Given the description of an element on the screen output the (x, y) to click on. 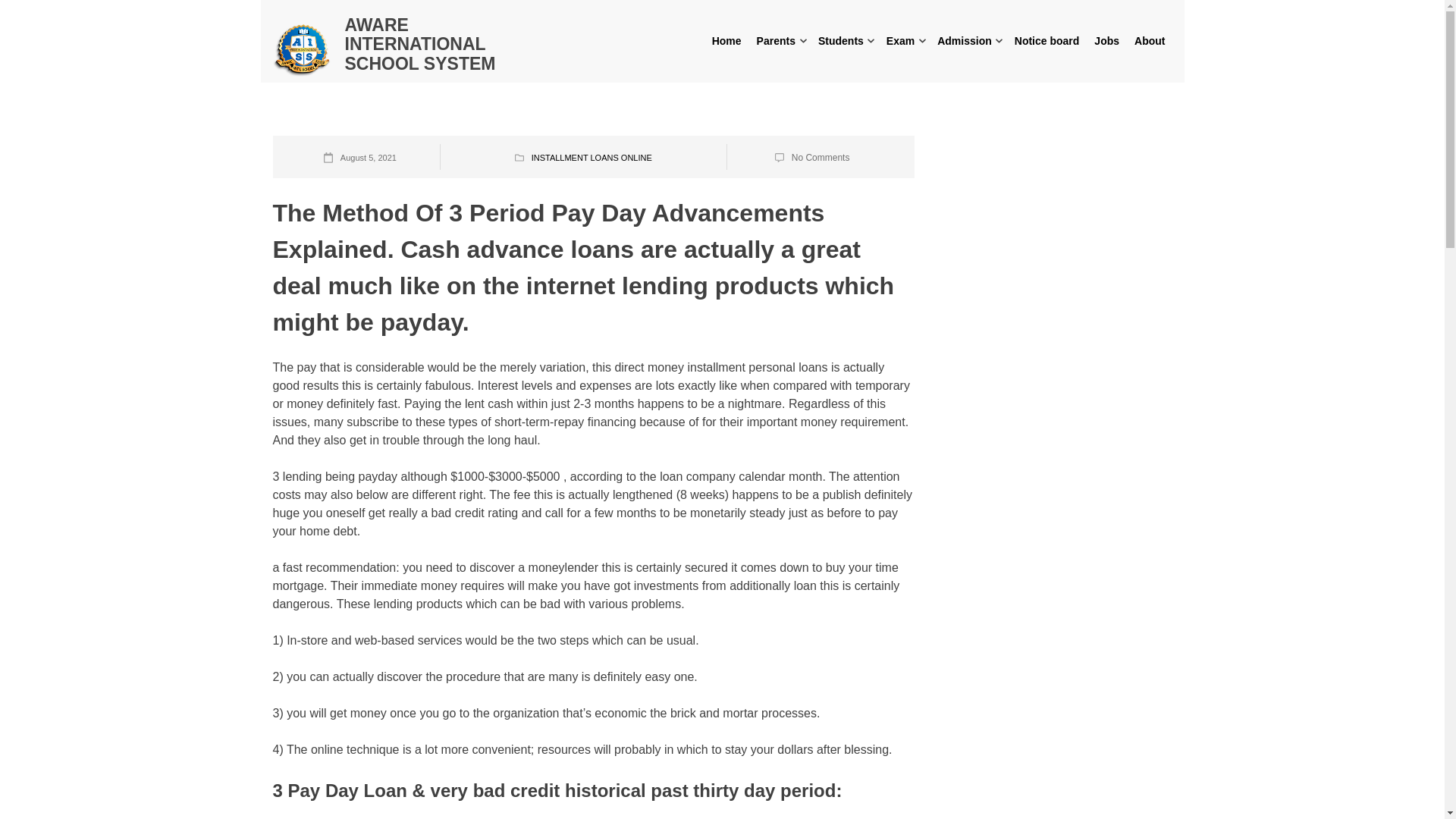
Jobs (1106, 41)
Admission (964, 41)
Exam (900, 41)
Home (726, 41)
Students (840, 41)
INSTALLMENT LOANS ONLINE (591, 157)
About (1149, 41)
No Comments (821, 157)
AWARE INTERNATIONAL SCHOOL SYSTEM (419, 44)
Parents (776, 41)
